Given the description of an element on the screen output the (x, y) to click on. 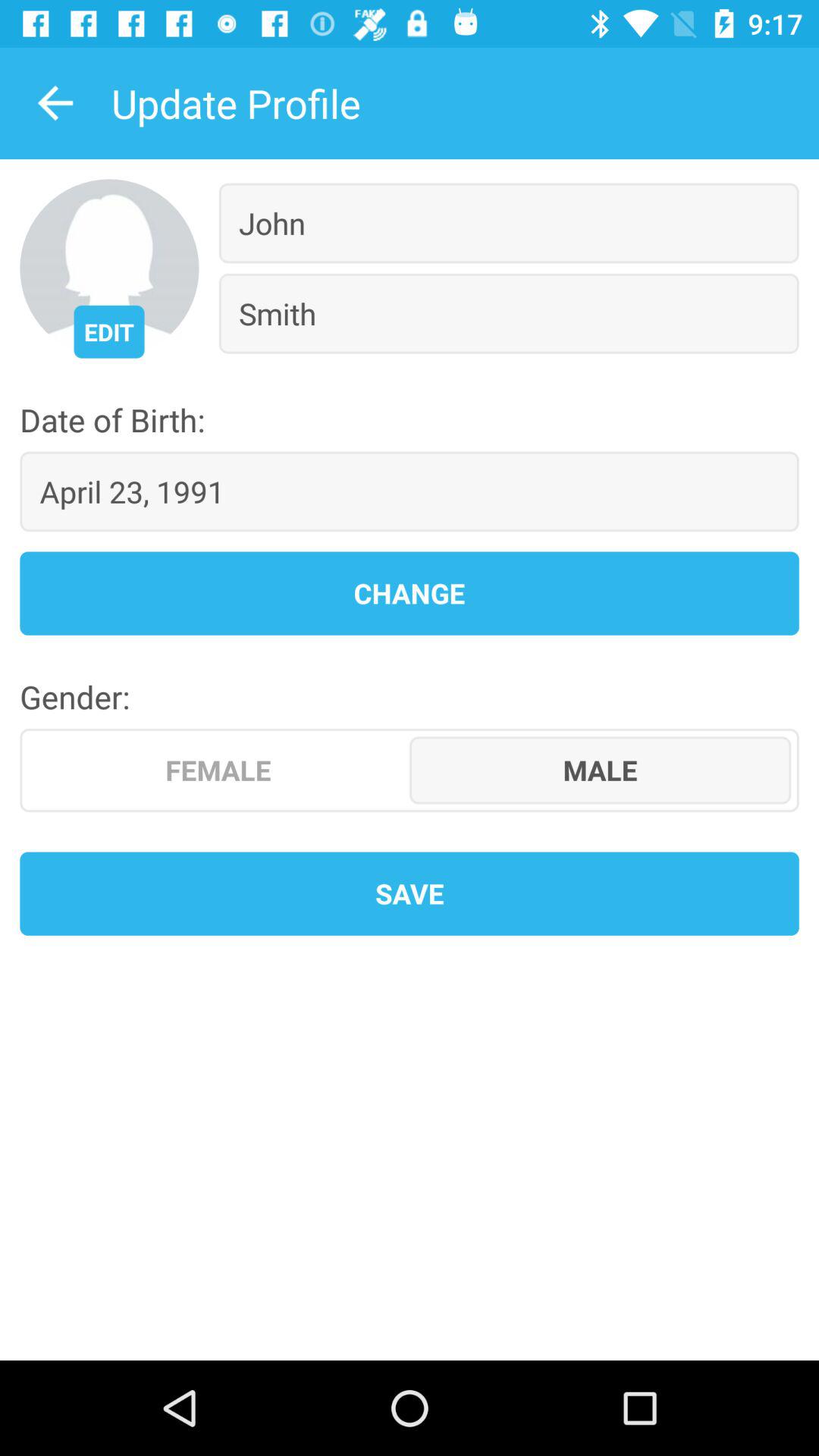
tap icon to the left of update profile icon (55, 103)
